Given the description of an element on the screen output the (x, y) to click on. 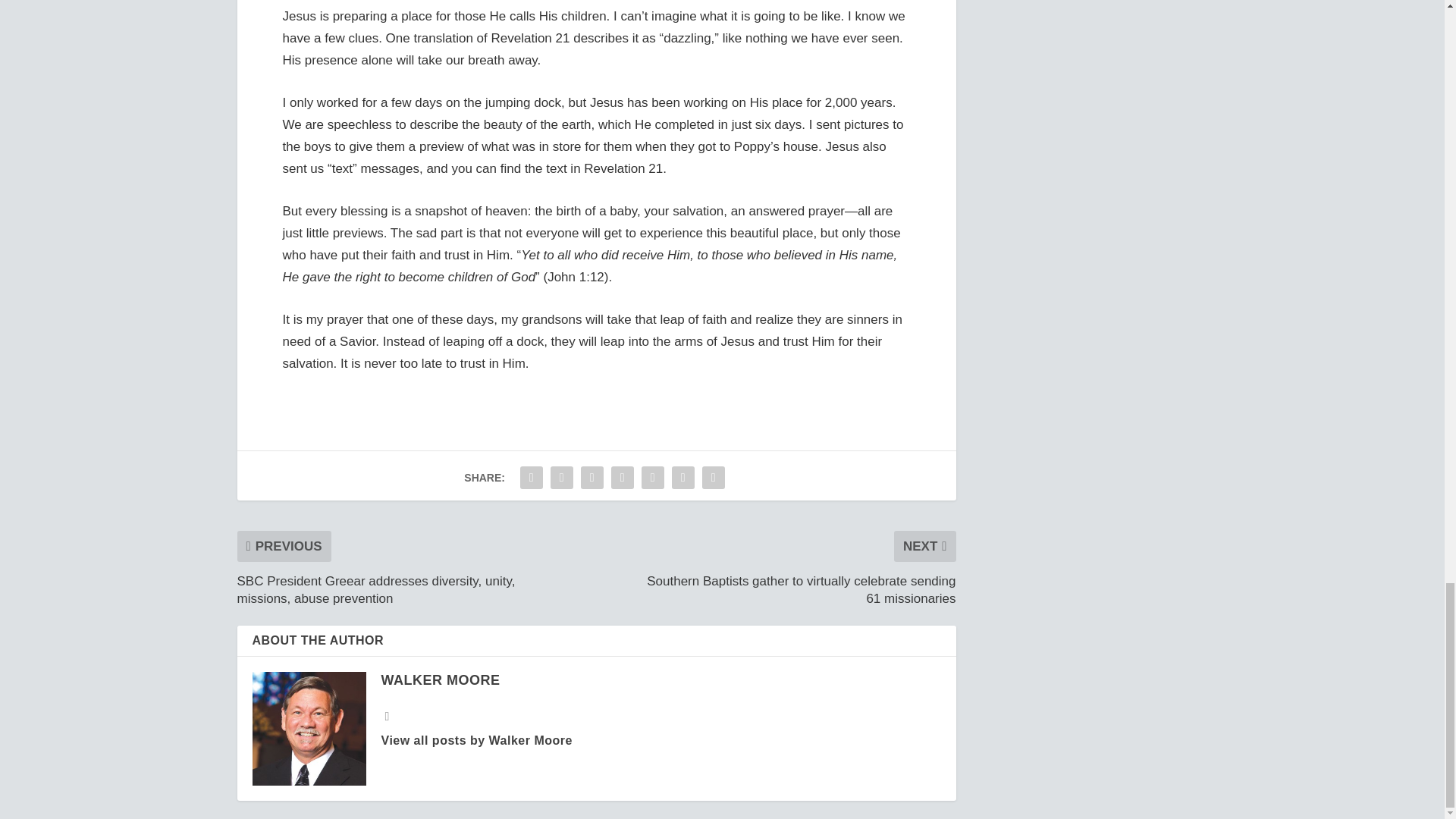
Share "Rite of passage: Preparing a place" via Pinterest (622, 477)
View all posts by Walker Moore (439, 679)
Share "Rite of passage: Preparing a place" via Email (683, 477)
Share "Rite of passage: Preparing a place" via LinkedIn (652, 477)
Share "Rite of passage: Preparing a place" via Print (713, 477)
Share "Rite of passage: Preparing a place" via Facebook (531, 477)
View all posts by Walker Moore (476, 739)
Share "Rite of passage: Preparing a place" via Twitter (561, 477)
